Given the description of an element on the screen output the (x, y) to click on. 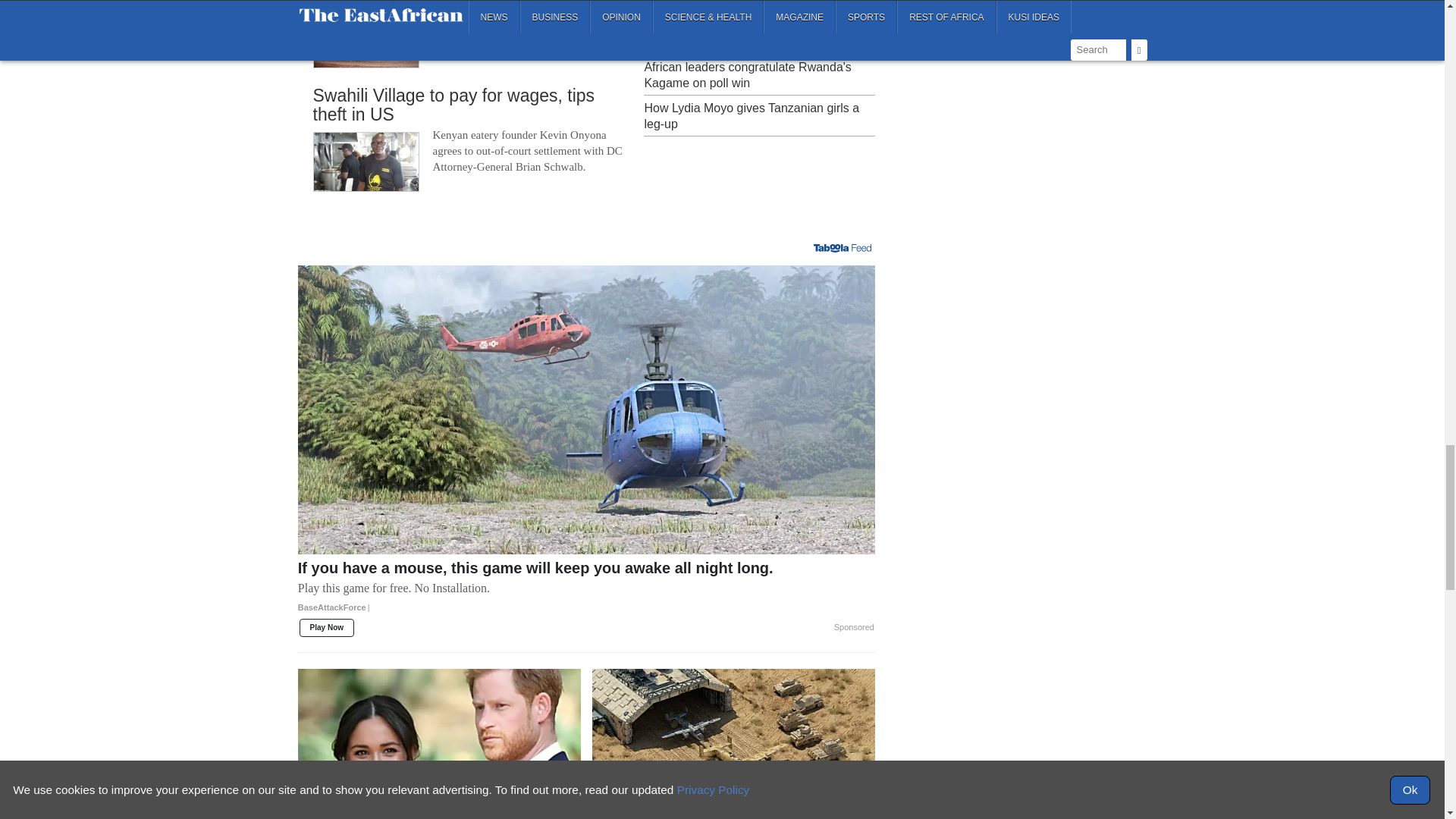
"Description: Play this game for free. No Installation." (586, 588)
